Given the description of an element on the screen output the (x, y) to click on. 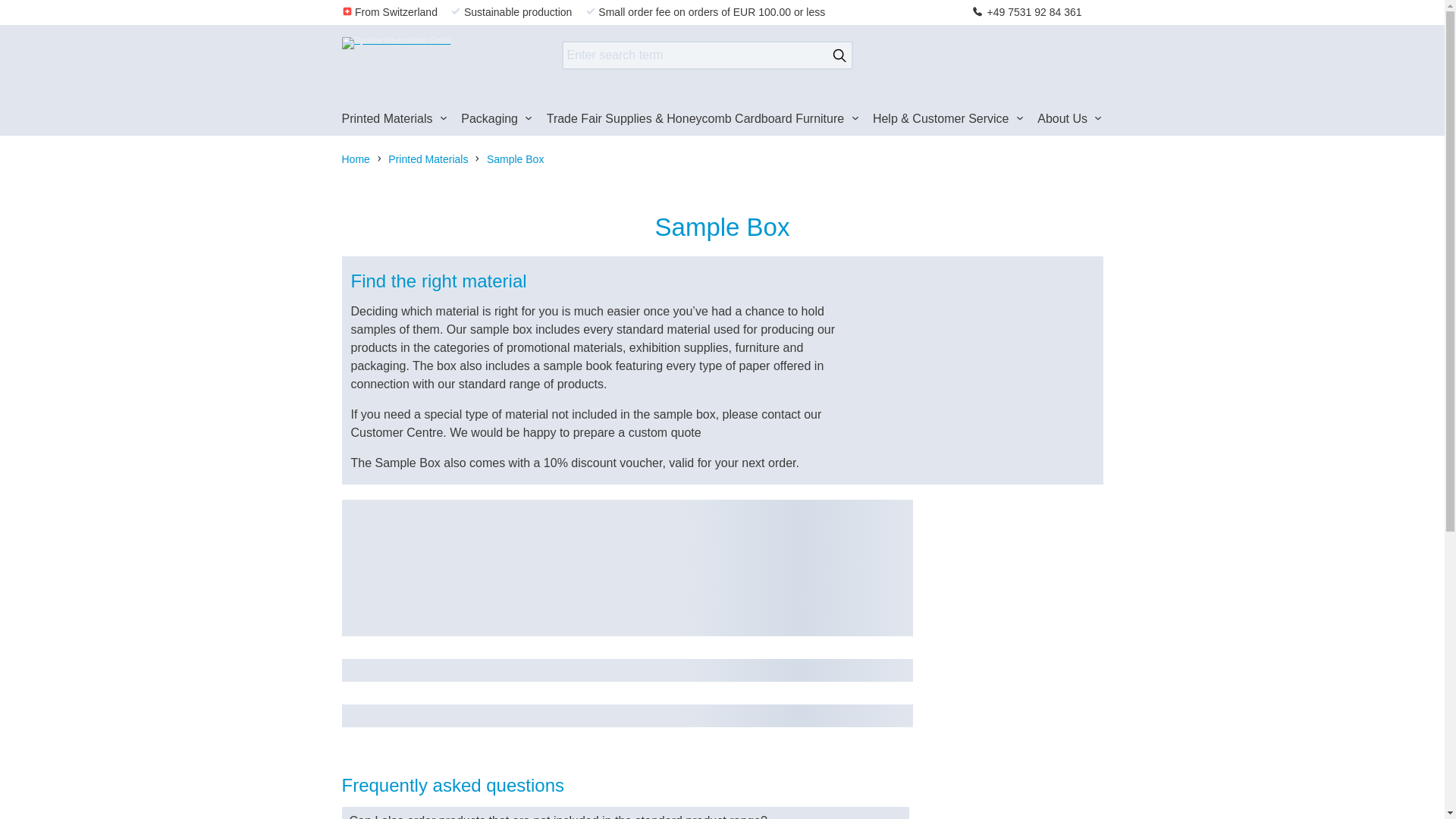
Printed Materials (394, 121)
Send (838, 53)
Flyerline Deutschland GmbH (432, 54)
